Given the description of an element on the screen output the (x, y) to click on. 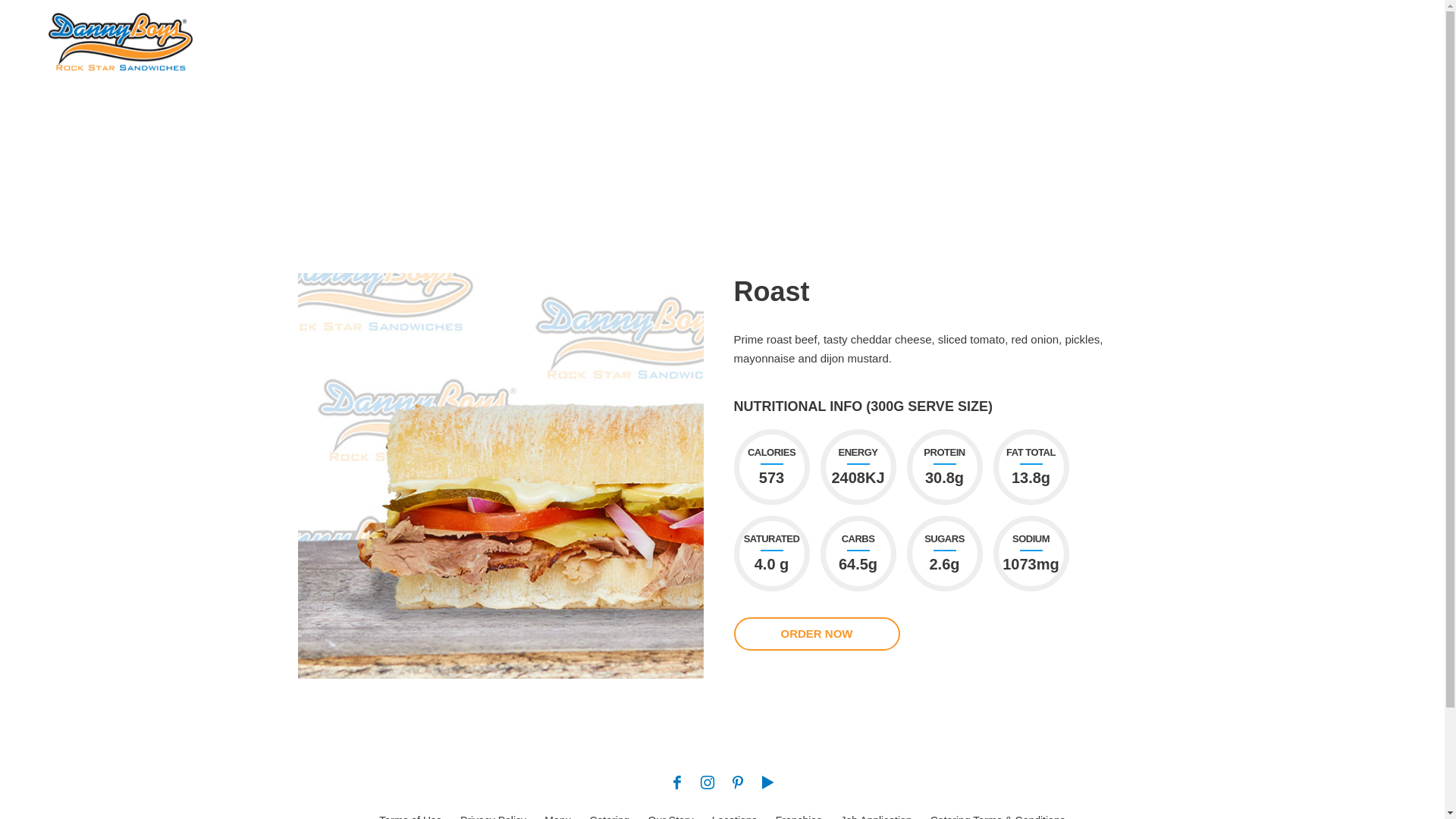
Instagram Element type: hover (1362, 37)
ORDER NOW Element type: text (817, 633)
CATERING Element type: text (838, 37)
Rock Star Sandwiches Element type: hover (120, 37)
OUR STORY Element type: text (920, 37)
MENU Element type: text (773, 37)
The roast DB Element type: hover (499, 475)
FRANCHISE Element type: text (1091, 37)
LOCATIONS Element type: text (1005, 37)
MENU Element type: text (881, 136)
SIGNATURE SANDWICHES / LETTUCE WRAPS Element type: text (1009, 136)
HOME Element type: text (720, 37)
YouTube Element type: hover (1385, 37)
HOME Element type: text (841, 136)
facebook Element type: hover (1339, 37)
ORDER CATERING Element type: text (1230, 37)
